Given the description of an element on the screen output the (x, y) to click on. 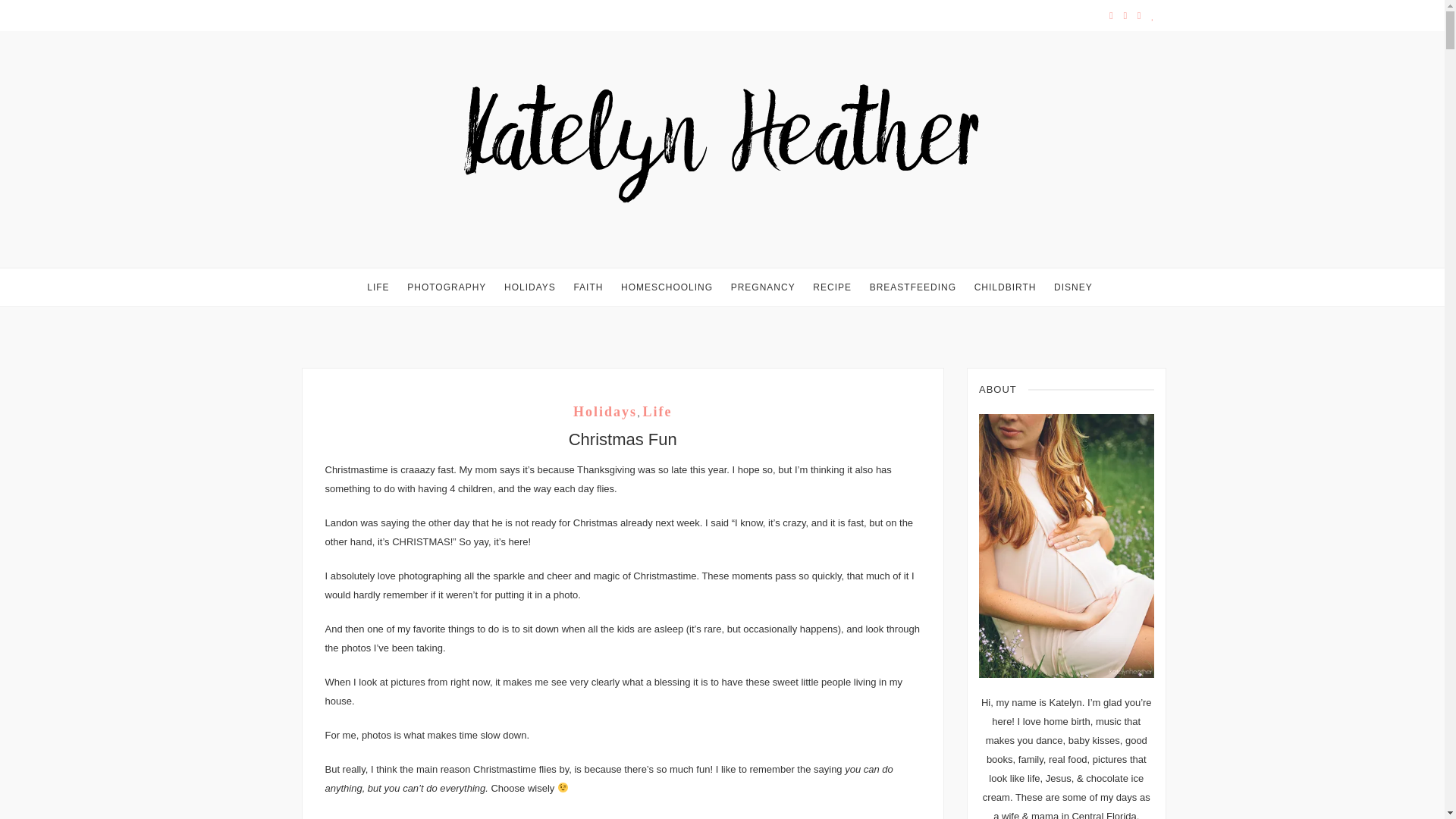
HOMESCHOOLING (667, 287)
Childbirth (1005, 287)
Pregnancy (762, 287)
PREGNANCY (762, 287)
Homeschooling (667, 287)
PHOTOGRAPHY (446, 287)
CHILDBIRTH (1005, 287)
DISNEY (1073, 287)
Breastfeeding (912, 287)
BREASTFEEDING (912, 287)
Holidays (529, 287)
Recipe (831, 287)
Disney (1073, 287)
RECIPE (831, 287)
Life (656, 411)
